Given the description of an element on the screen output the (x, y) to click on. 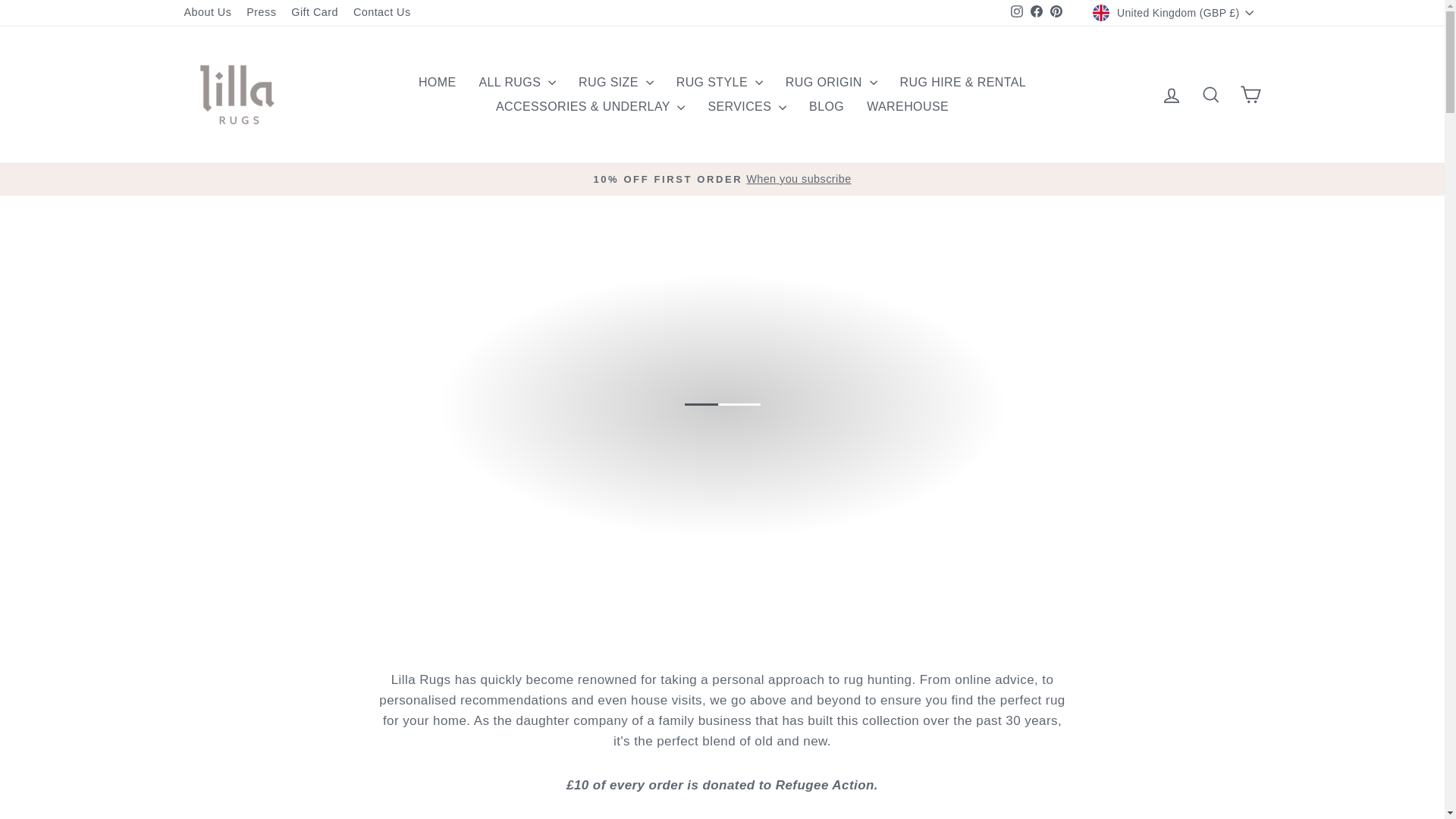
instagram (1016, 10)
ICON-SEARCH (1210, 94)
ACCOUNT (1170, 95)
